Given the description of an element on the screen output the (x, y) to click on. 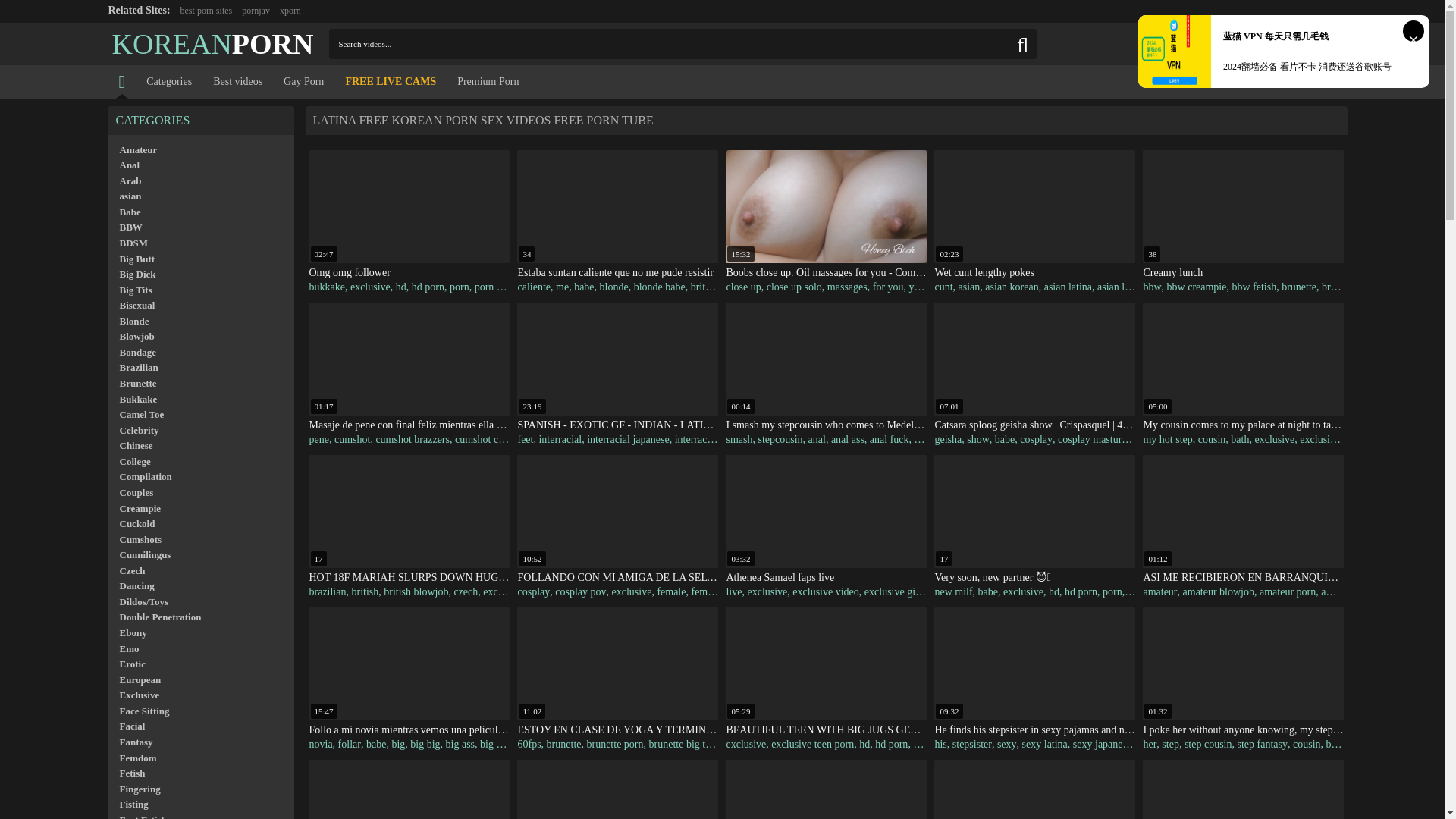
Camel Toe (200, 415)
FREE LIVE CAMS (390, 81)
Creamy lunch  (1242, 273)
best porn sites (206, 9)
Gay Porn (304, 81)
Anal (200, 165)
Cuckold (200, 524)
Couples (200, 493)
Celebrity (200, 430)
